Given the description of an element on the screen output the (x, y) to click on. 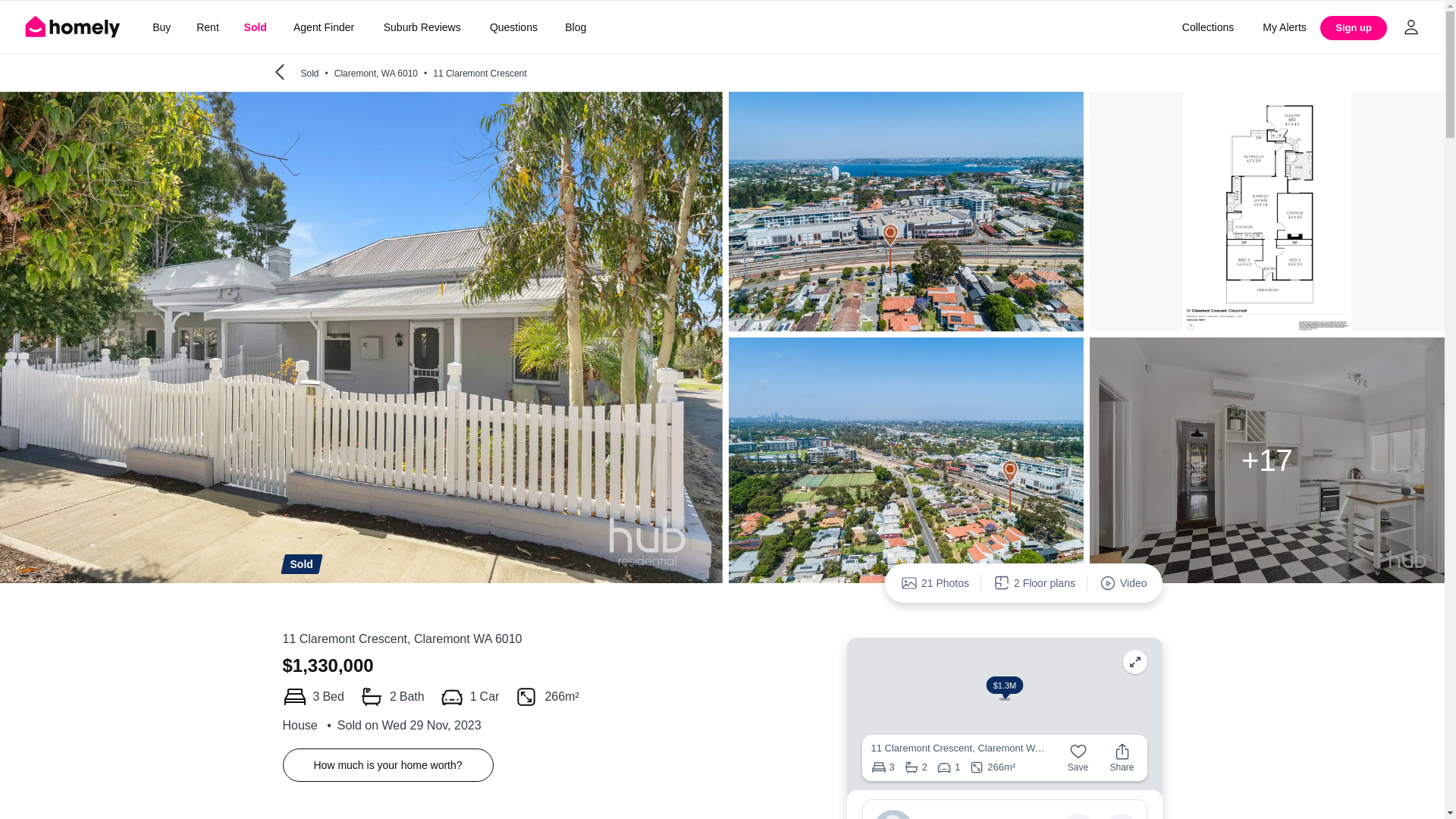
Rent (207, 27)
21 Photos (934, 583)
Buy (161, 27)
Collections (1207, 27)
Sold (255, 27)
My Alerts (1284, 27)
Agent Finder (323, 27)
Sign up (1353, 27)
Sold (255, 27)
Questions (513, 27)
Questions (513, 27)
Back (278, 72)
Video (1122, 583)
How much is your home worth? (387, 765)
Buy (161, 27)
